Given the description of an element on the screen output the (x, y) to click on. 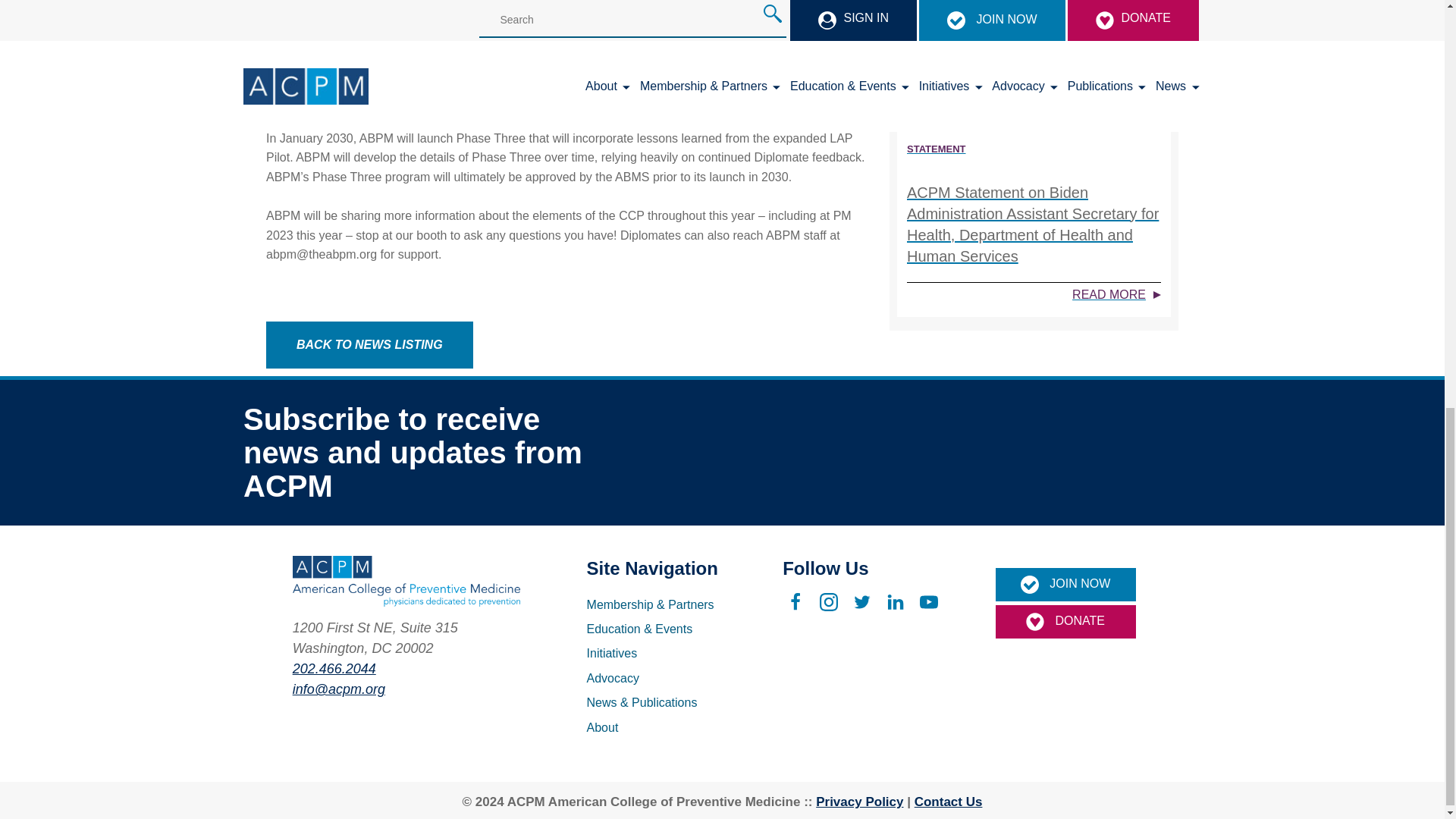
back (369, 344)
